Given the description of an element on the screen output the (x, y) to click on. 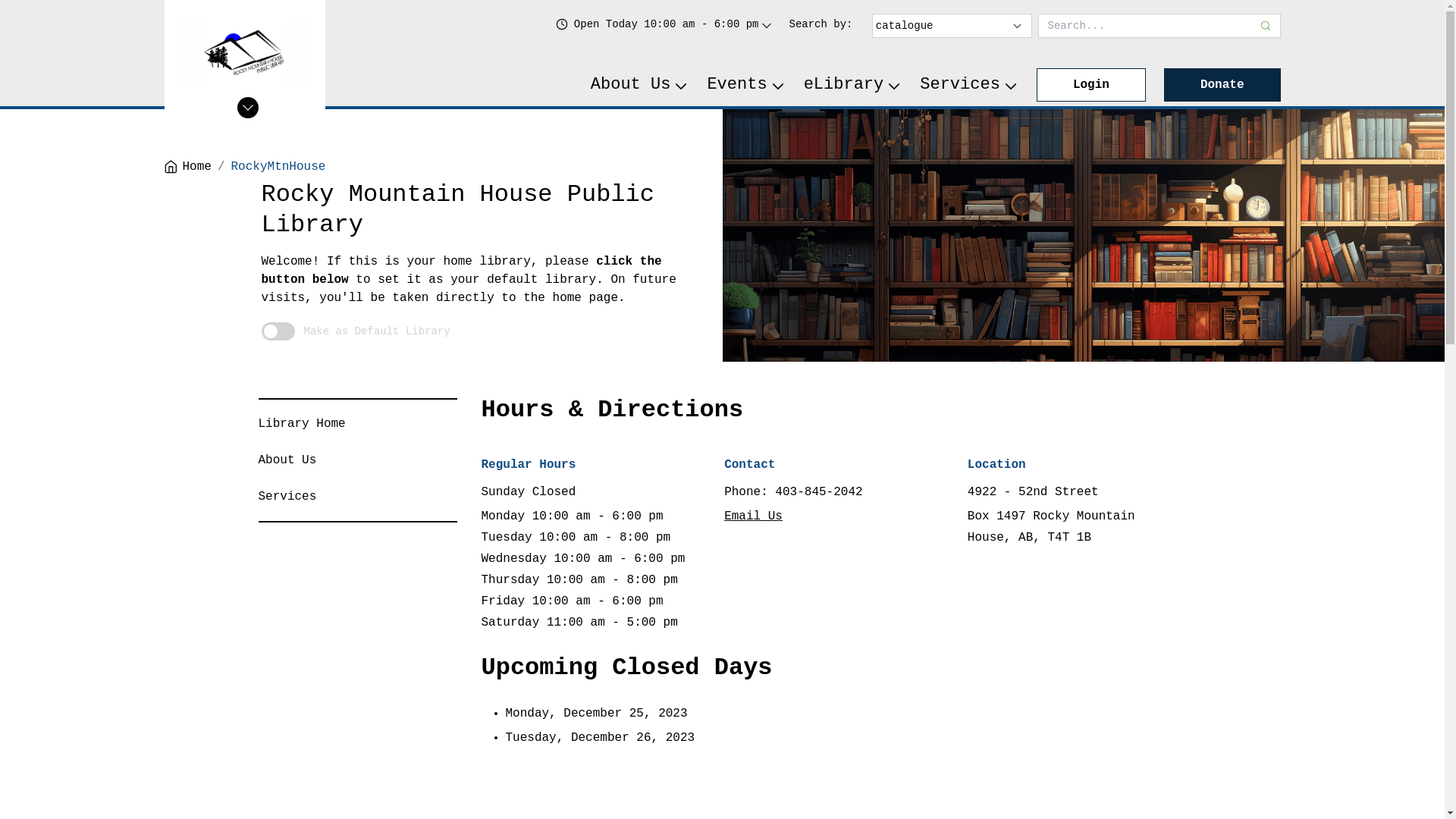
Events Element type: text (745, 84)
About Us Element type: text (286, 460)
Library Home Element type: text (301, 423)
Services Element type: text (968, 84)
Email Us Element type: text (753, 516)
Services Element type: text (286, 496)
Home Element type: text (186, 166)
Donate Element type: text (1222, 84)
Login Element type: text (1090, 84)
RockyMtnHouse Element type: text (278, 166)
eLibrary Element type: text (852, 84)
About Us Element type: text (639, 84)
